Given the description of an element on the screen output the (x, y) to click on. 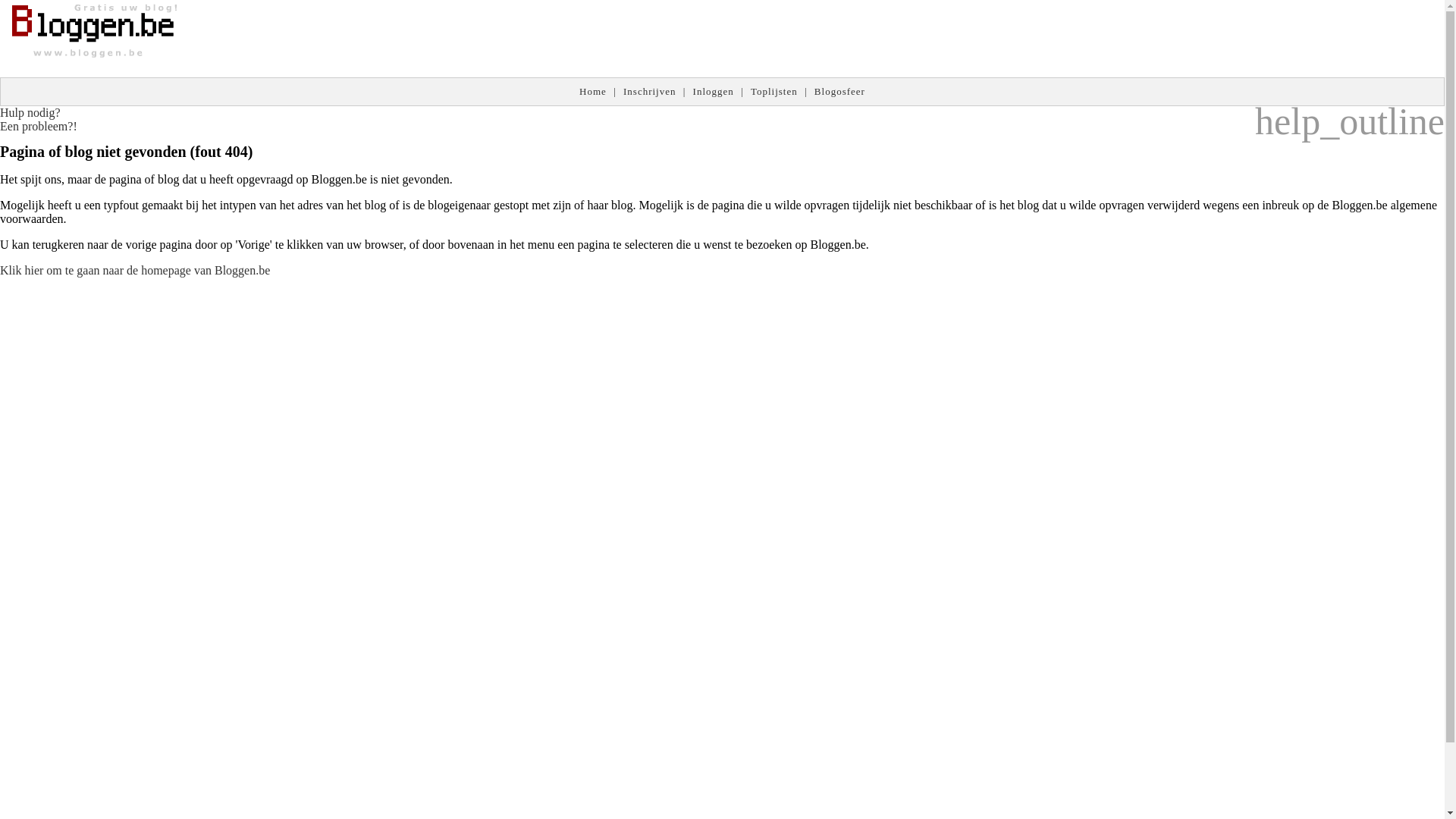
Klik hier om te gaan naar de homepage van Bloggen.be Element type: text (134, 269)
Toplijsten Element type: text (773, 91)
help_outline
Hulp nodig?
Een probleem?! Element type: text (38, 119)
Inloggen Element type: text (713, 91)
Blogosfeer Element type: text (839, 91)
Home Element type: text (592, 91)
Inschrijven Element type: text (649, 91)
